Given the description of an element on the screen output the (x, y) to click on. 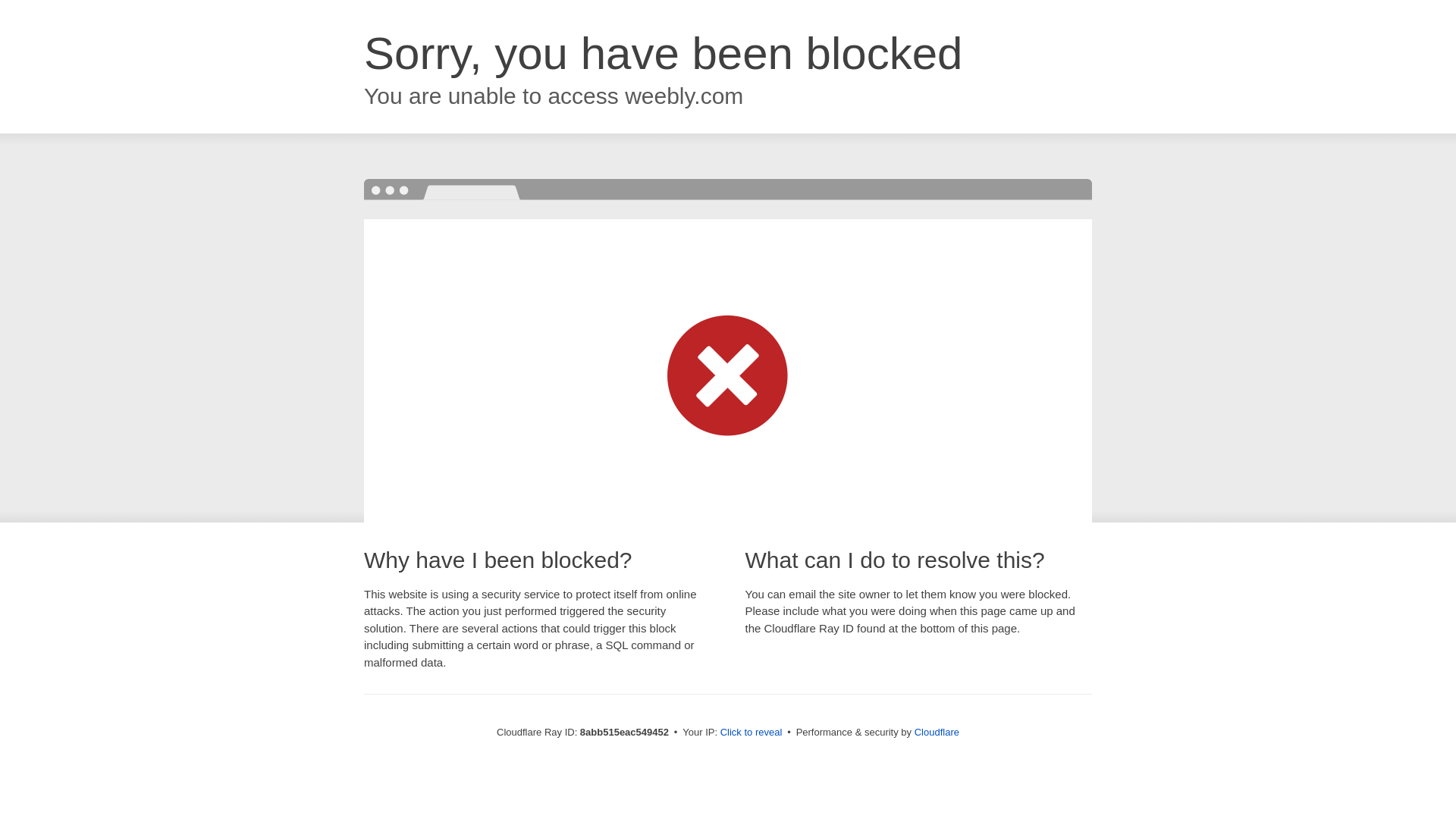
Cloudflare (936, 731)
Click to reveal (751, 732)
